Given the description of an element on the screen output the (x, y) to click on. 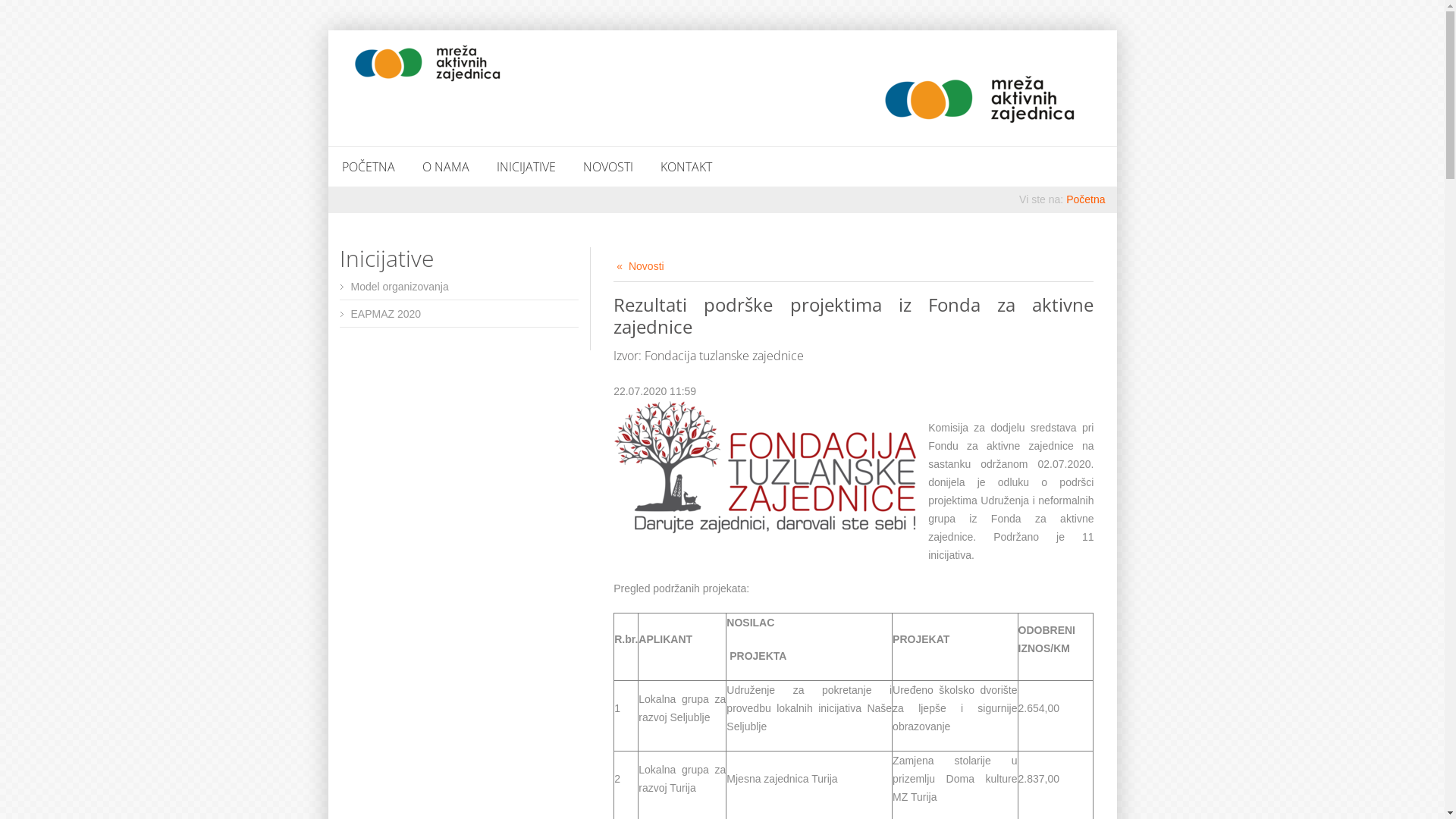
O NAMA Element type: text (444, 166)
INICIJATIVE Element type: text (525, 166)
Model organizovanja Element type: text (399, 286)
Novosti Element type: text (639, 265)
KONTAKT Element type: text (685, 166)
NOVOSTI Element type: text (607, 166)
EAPMAZ 2020 Element type: text (385, 313)
